Given the description of an element on the screen output the (x, y) to click on. 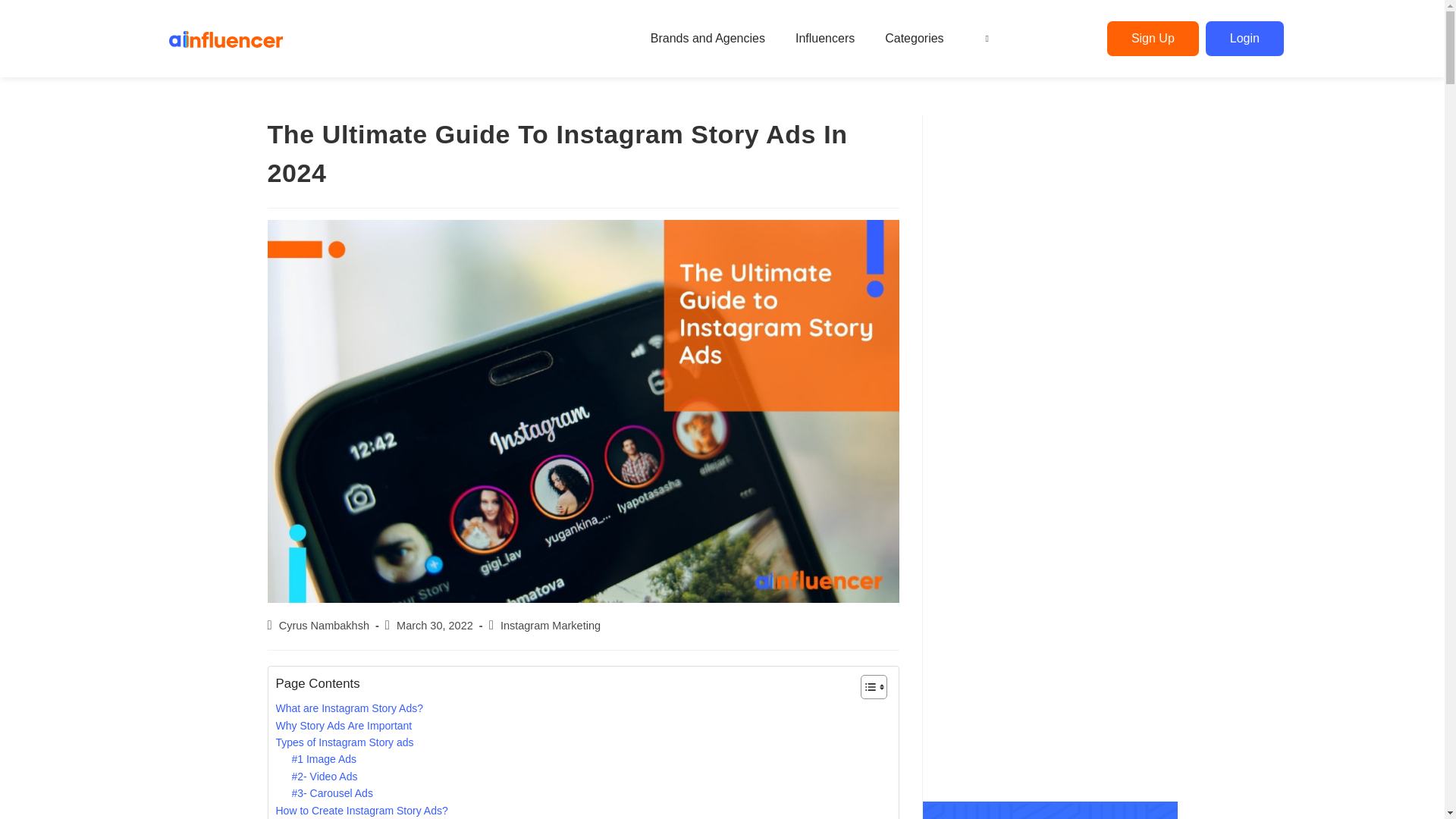
How to Create Instagram Story Ads? (362, 810)
Why Story Ads Are Important (344, 725)
What are Instagram Story Ads? (349, 708)
Instagram Marketing (549, 625)
Why Story Ads Are Important (344, 725)
Influencers (828, 38)
Cyrus Nambakhsh (324, 625)
Login (1244, 38)
Brands and Agencies (711, 38)
Categories (917, 38)
Types of Instagram Story ads (344, 742)
What are Instagram Story Ads? (349, 708)
Sign Up (1152, 38)
Types of Instagram Story ads (344, 742)
Posts by Cyrus Nambakhsh (324, 625)
